Given the description of an element on the screen output the (x, y) to click on. 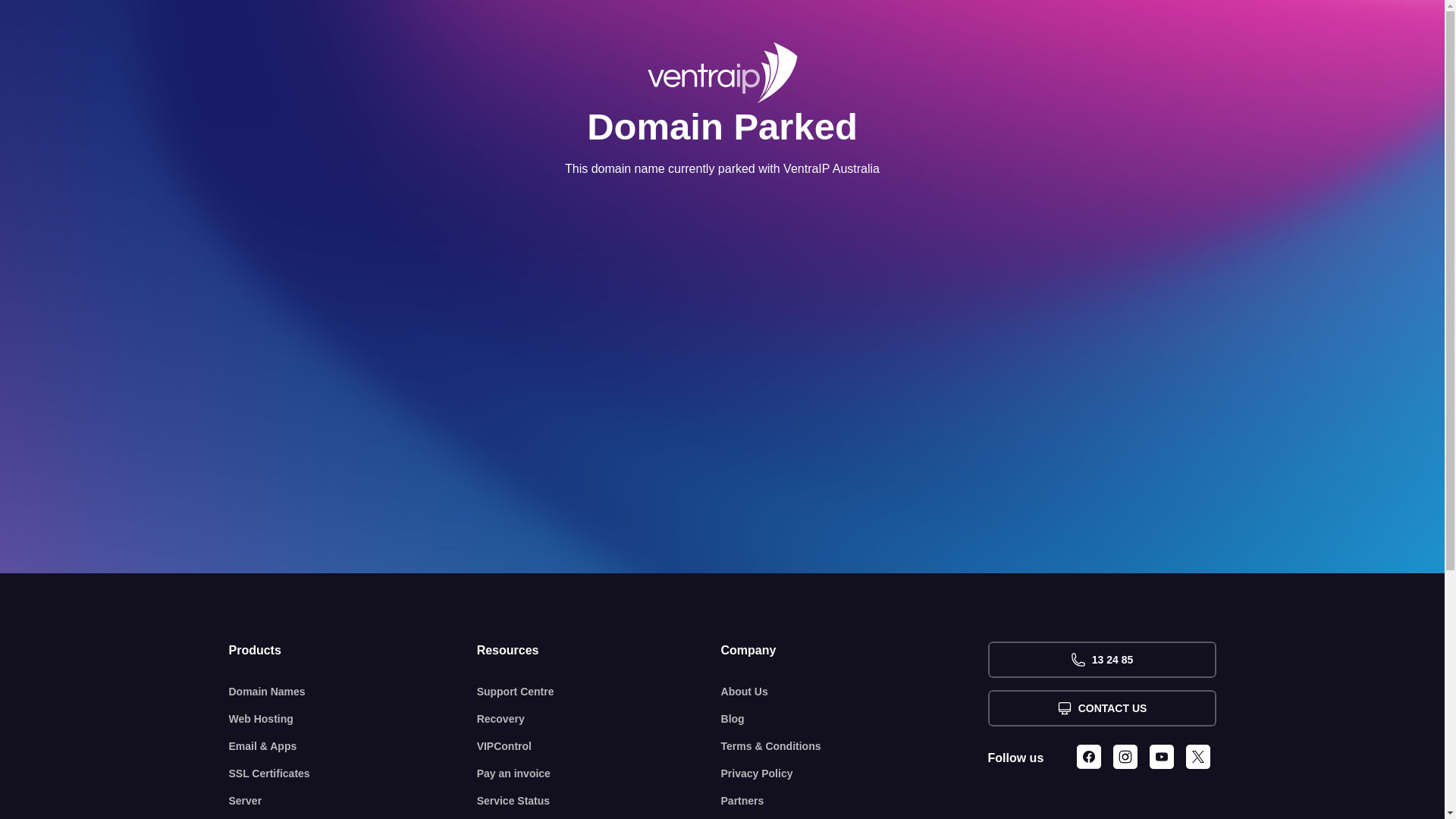
Blog Element type: text (854, 718)
VIPControl Element type: text (598, 745)
Email & Apps Element type: text (352, 745)
Pay an invoice Element type: text (598, 773)
Partners Element type: text (854, 800)
CONTACT US Element type: text (1101, 708)
About Us Element type: text (854, 691)
Privacy Policy Element type: text (854, 773)
Server Element type: text (352, 800)
Terms & Conditions Element type: text (854, 745)
Support Centre Element type: text (598, 691)
Web Hosting Element type: text (352, 718)
Recovery Element type: text (598, 718)
13 24 85 Element type: text (1101, 659)
SSL Certificates Element type: text (352, 773)
Domain Names Element type: text (352, 691)
Service Status Element type: text (598, 800)
